Given the description of an element on the screen output the (x, y) to click on. 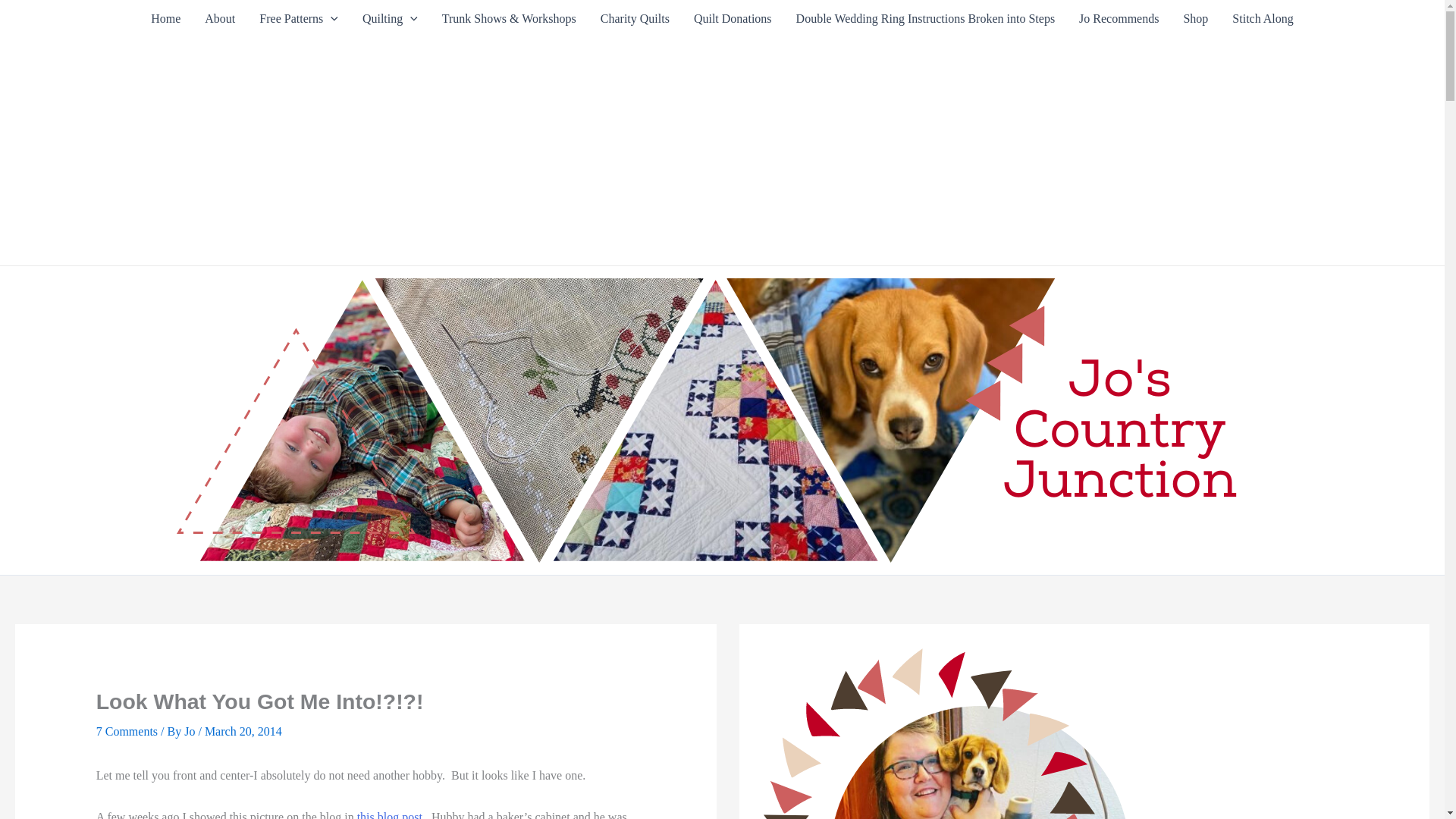
View all posts by Jo (191, 730)
Quilt Donations (732, 18)
Charity Quilts (634, 18)
Quilting (389, 18)
Quilts of 2012 (389, 18)
Free Patterns (298, 18)
Home (165, 18)
About (219, 18)
